Given the description of an element on the screen output the (x, y) to click on. 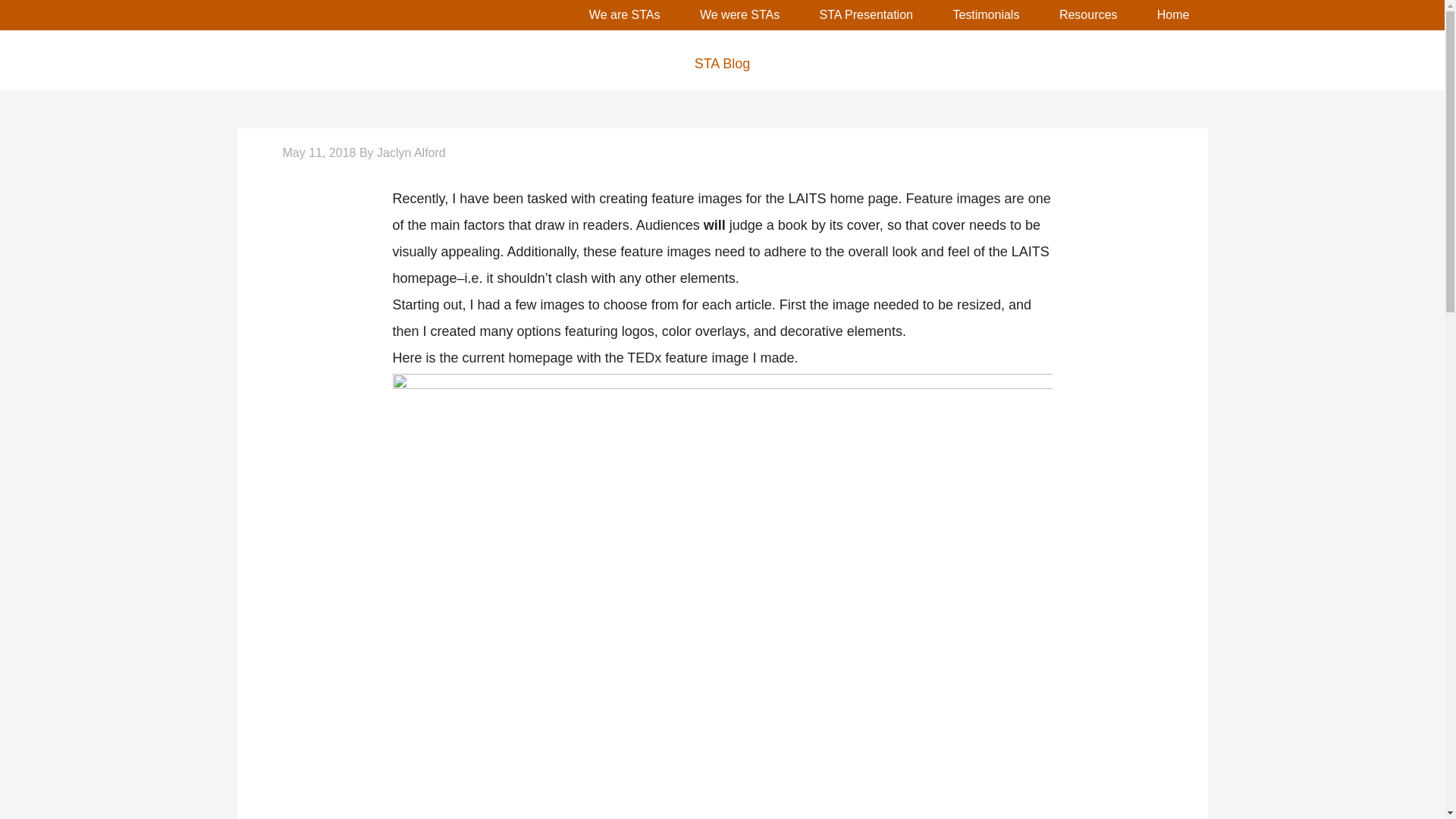
Jaclyn Alford (411, 152)
Resources (1088, 15)
STA Presentation (866, 15)
Testimonials (985, 15)
We were STAs (739, 15)
Home (1173, 15)
We are STAs (624, 15)
STA Blog (721, 64)
